Given the description of an element on the screen output the (x, y) to click on. 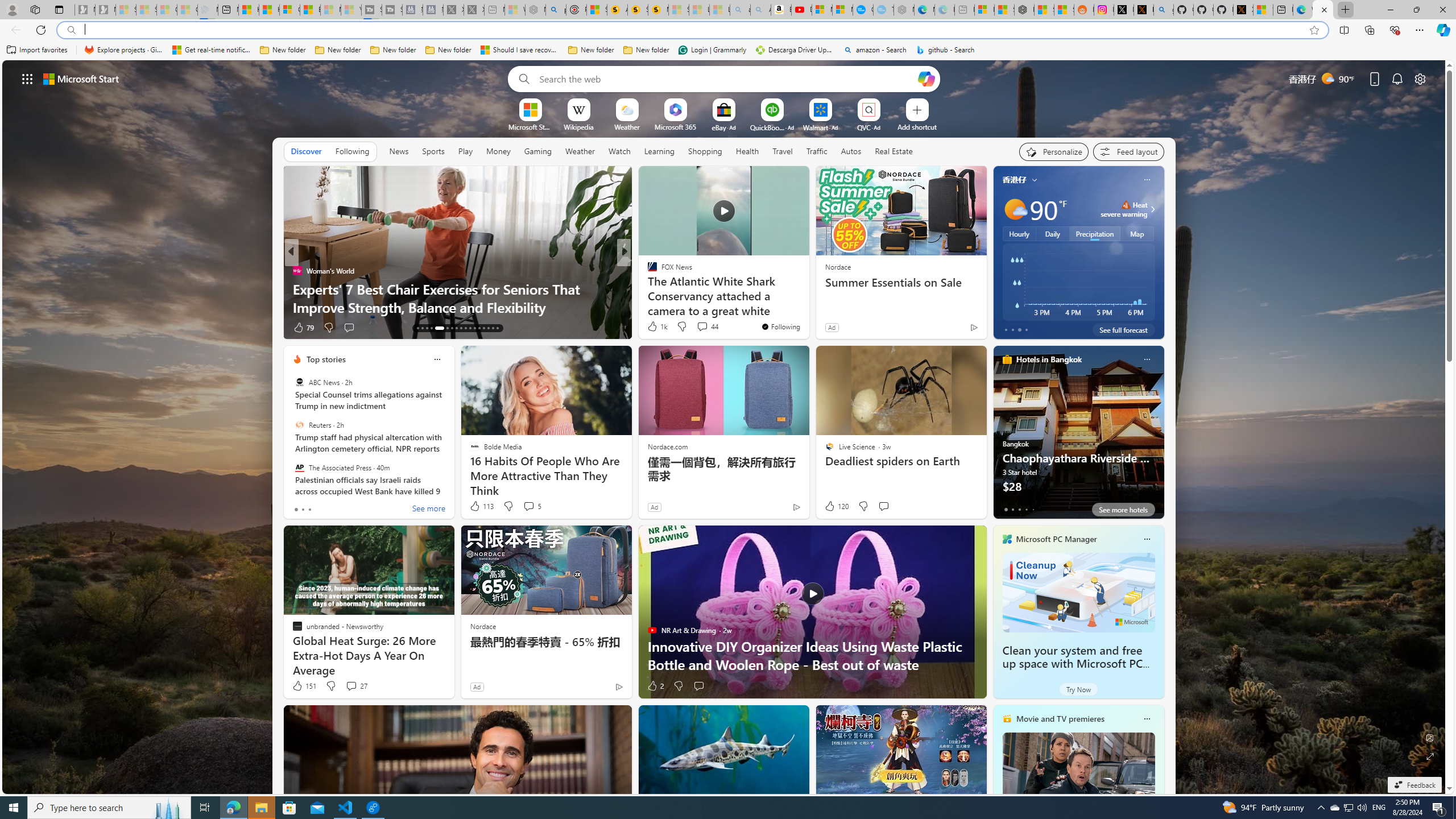
Microsoft PC Manager (1056, 538)
AutomationID: tab-17 (436, 328)
3 PM 4 PM 5 PM 6 PM (1077, 282)
Sports (432, 151)
View comments 4 Comment (698, 327)
Import favorites (36, 49)
46 Like (652, 327)
You're following FOX News (780, 326)
New tab - Sleeping (964, 9)
amazon - Search (875, 49)
AutomationID: tab-15 (426, 328)
AutomationID: tab-23 (470, 328)
AutomationID: tab-25 (478, 328)
ABC News (299, 382)
186 Like (654, 327)
